Given the description of an element on the screen output the (x, y) to click on. 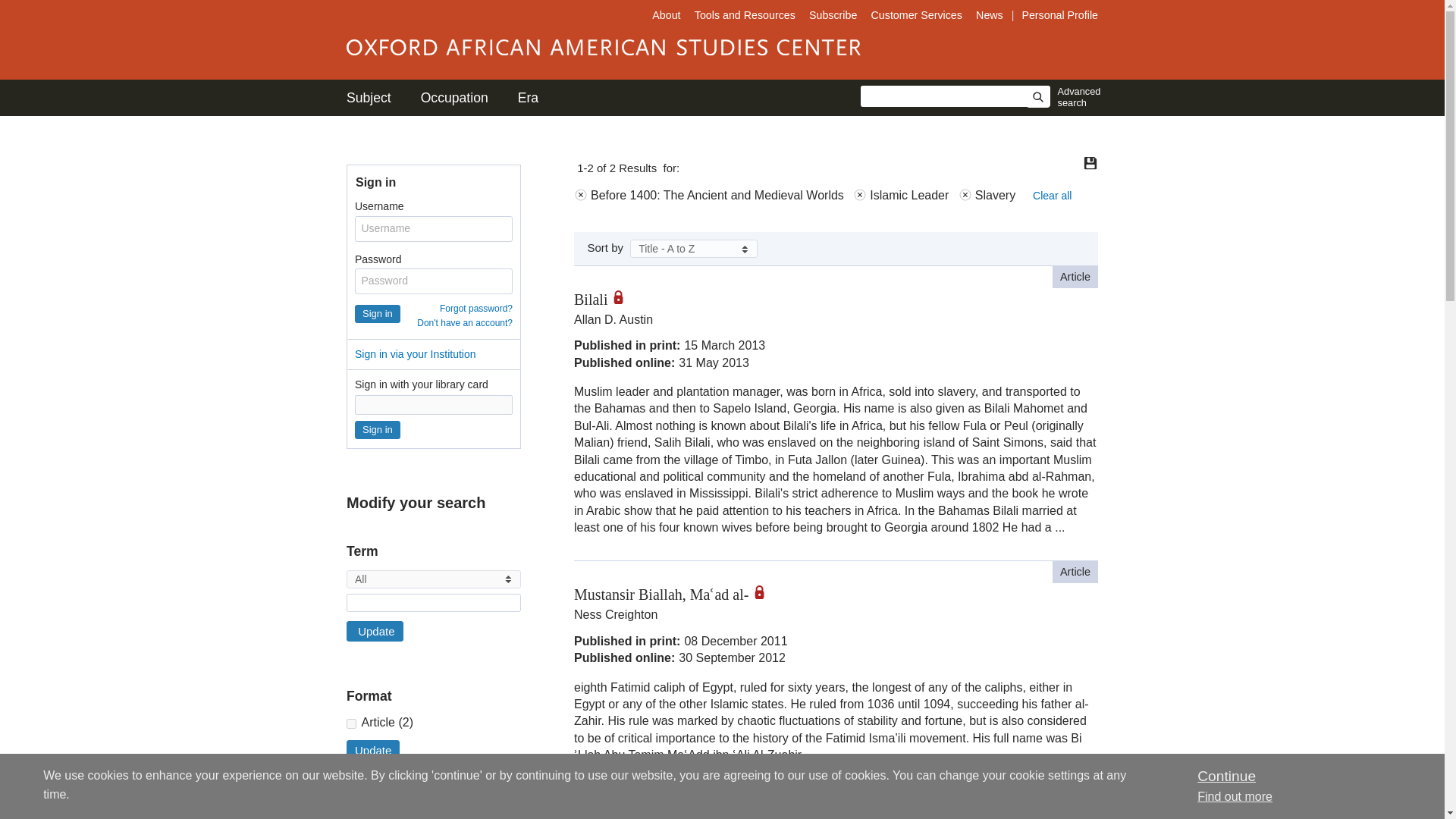
Search (1037, 96)
Advanced search (1075, 96)
News (991, 15)
Continue (1225, 775)
Personal Profile (1059, 15)
Subscribe (832, 15)
 Update (374, 630)
Close this message (1225, 775)
restricted access (764, 591)
Find out more (1234, 796)
Jump to Content (55, 11)
Oxford African American Studies Center (603, 47)
Subject (368, 97)
Save (1090, 162)
Search (1037, 96)
